Given the description of an element on the screen output the (x, y) to click on. 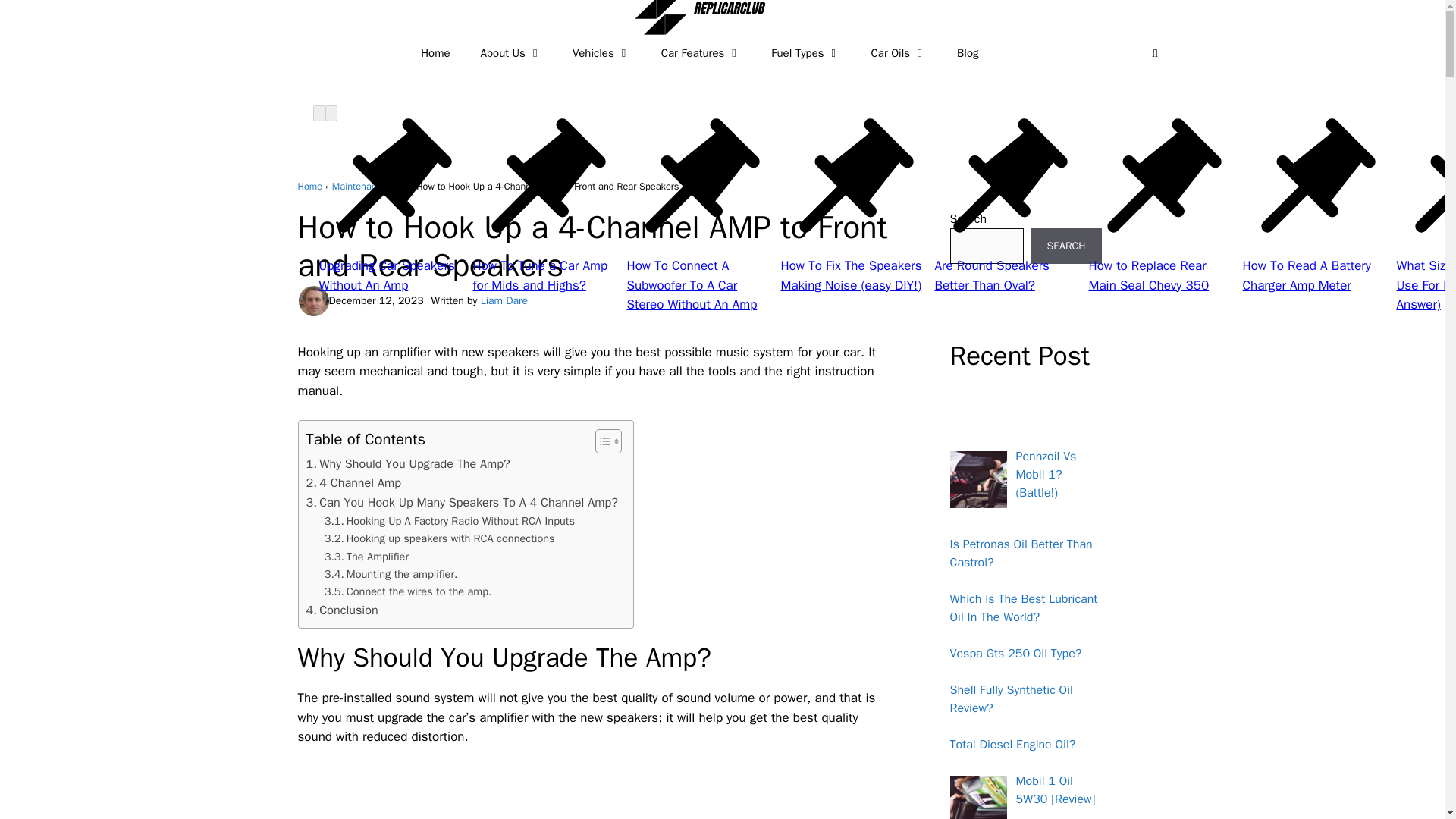
Can You Hook Up Many Speakers To A 4 Channel Amp? (461, 502)
Why Should You Upgrade The Amp? (408, 464)
Mounting the amplifier. (391, 574)
Hooking up speakers with RCA connections (439, 538)
Connect the wires to the amp. (408, 591)
The Amplifier (366, 556)
Conclusion (341, 609)
Hooking Up A Factory Radio Without RCA Inputs (449, 520)
4 Channel Amp (353, 483)
